Given the description of an element on the screen output the (x, y) to click on. 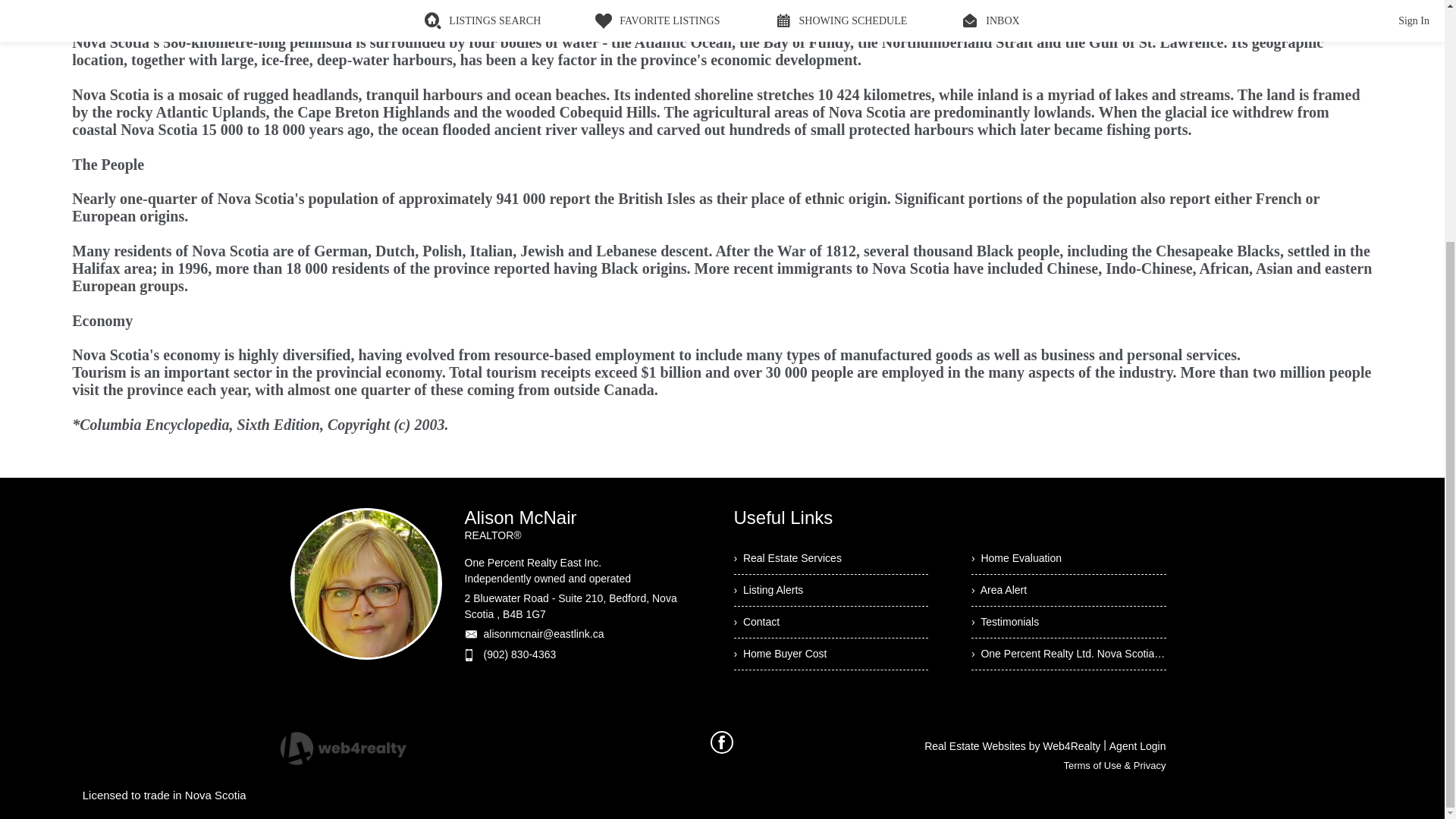
Agent Login (1137, 746)
Real Estate Websites by Web4Realty (1012, 746)
